Given the description of an element on the screen output the (x, y) to click on. 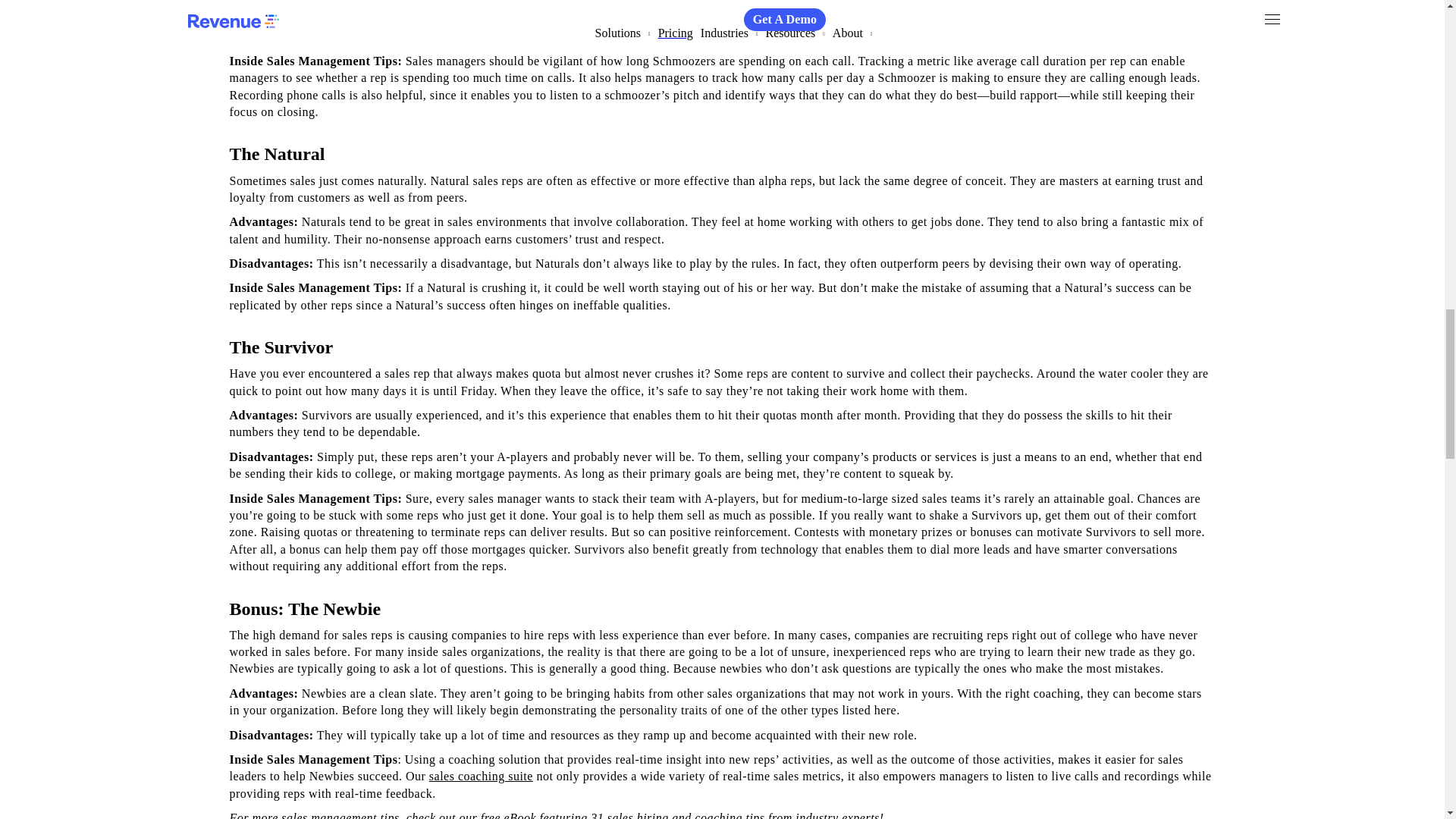
our free eBook (497, 815)
sales coaching suite (480, 775)
